Given the description of an element on the screen output the (x, y) to click on. 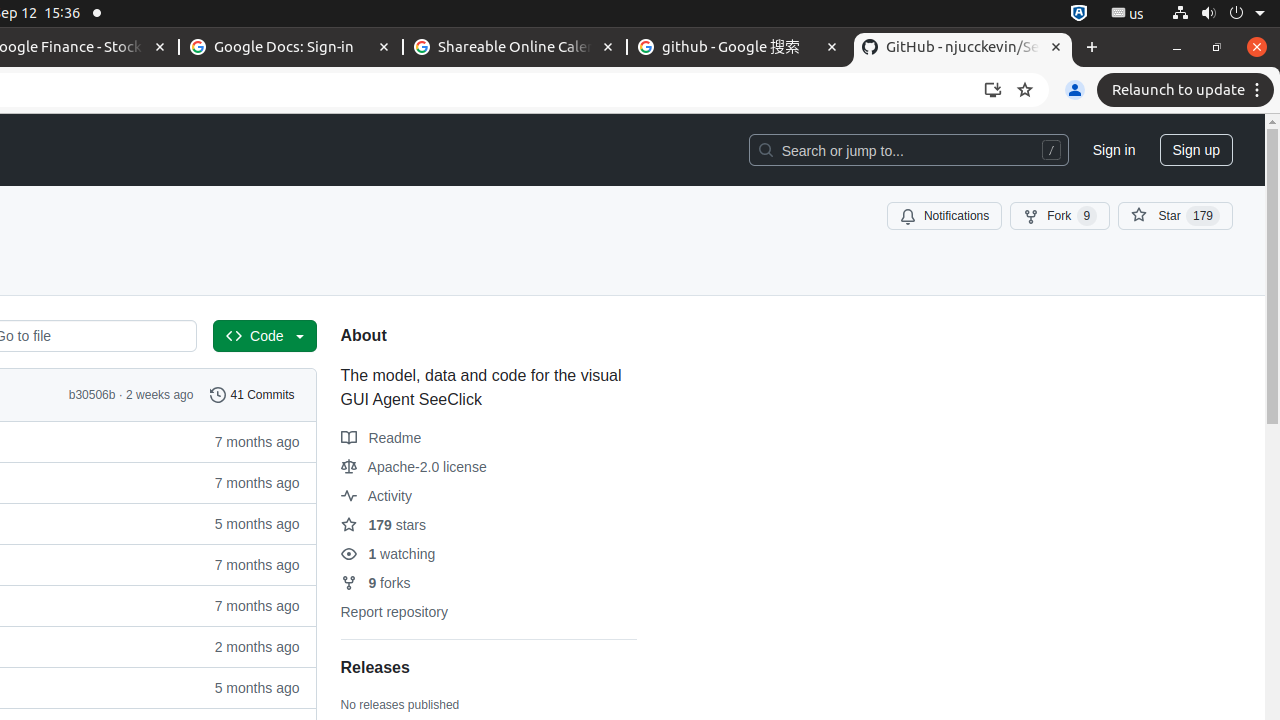
You Element type: push-button (1075, 90)
1 watching Element type: link (388, 554)
Search or jump to… Element type: push-button (908, 150)
Install GitHub Element type: push-button (993, 90)
Google Docs: Sign-in - Memory usage - 31.9 MB Element type: page-tab (291, 47)
